Given the description of an element on the screen output the (x, y) to click on. 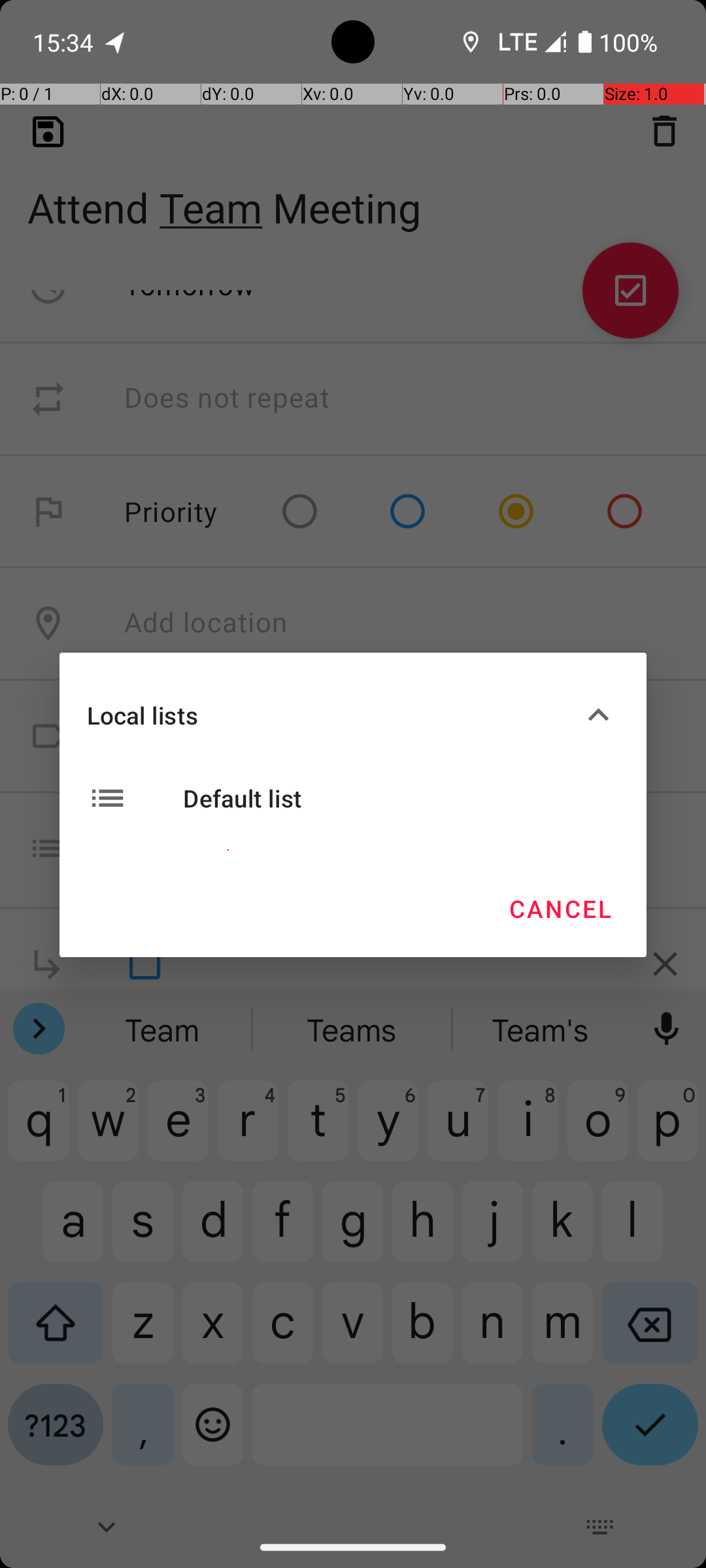
Local lists Element type: android.widget.TextView (331, 715)
